Given the description of an element on the screen output the (x, y) to click on. 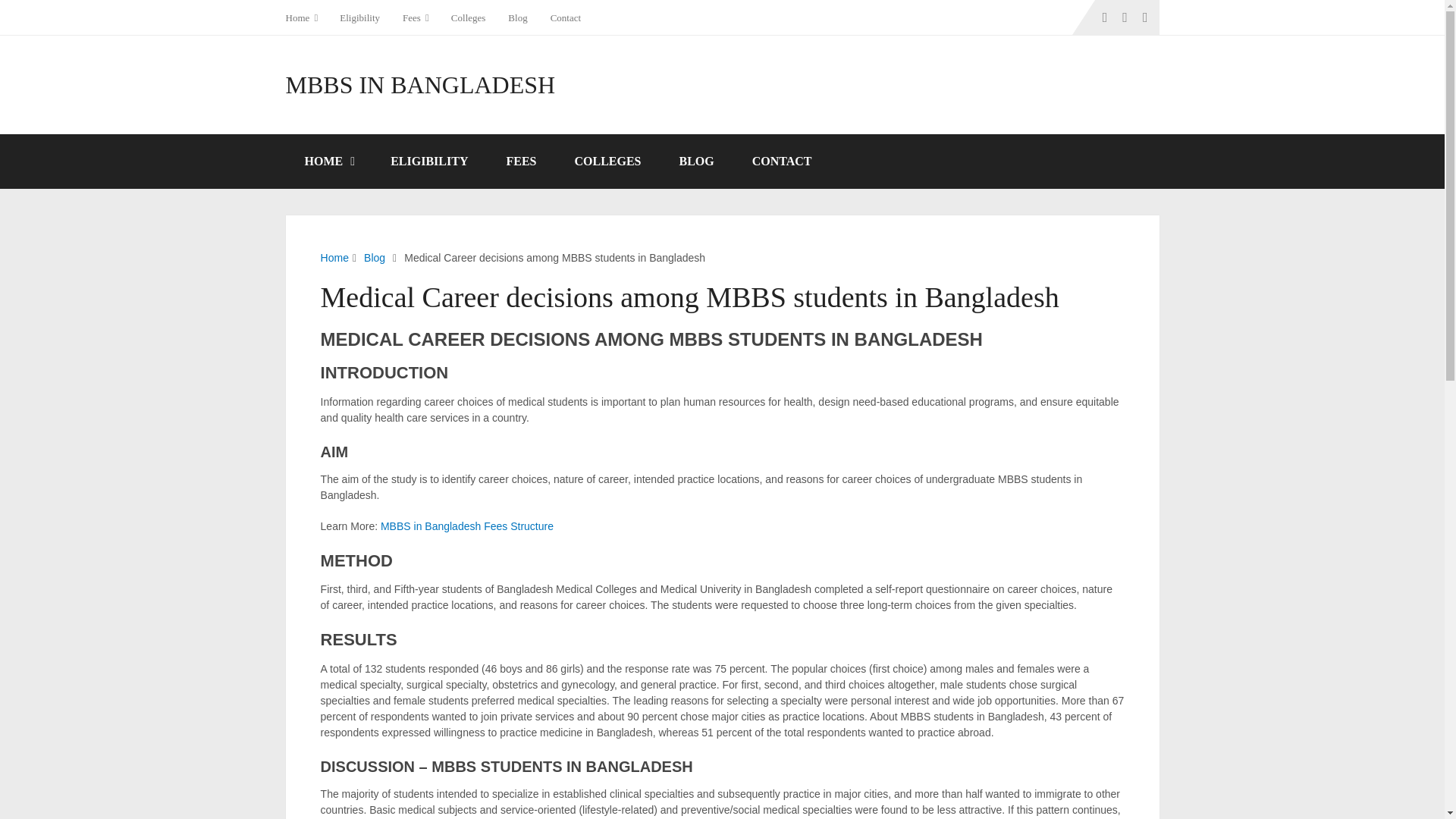
Eligibility (360, 17)
Blog (374, 257)
ELIGIBILITY (428, 161)
COLLEGES (606, 161)
Home (307, 17)
Fees (415, 17)
Home (334, 257)
CONTACT (782, 161)
BLOG (695, 161)
MBBS IN BANGLADESH (419, 84)
FEES (520, 161)
HOME (328, 161)
Colleges (468, 17)
Contact (565, 17)
MBBS in Bangladesh Fees Structure (466, 526)
